Given the description of an element on the screen output the (x, y) to click on. 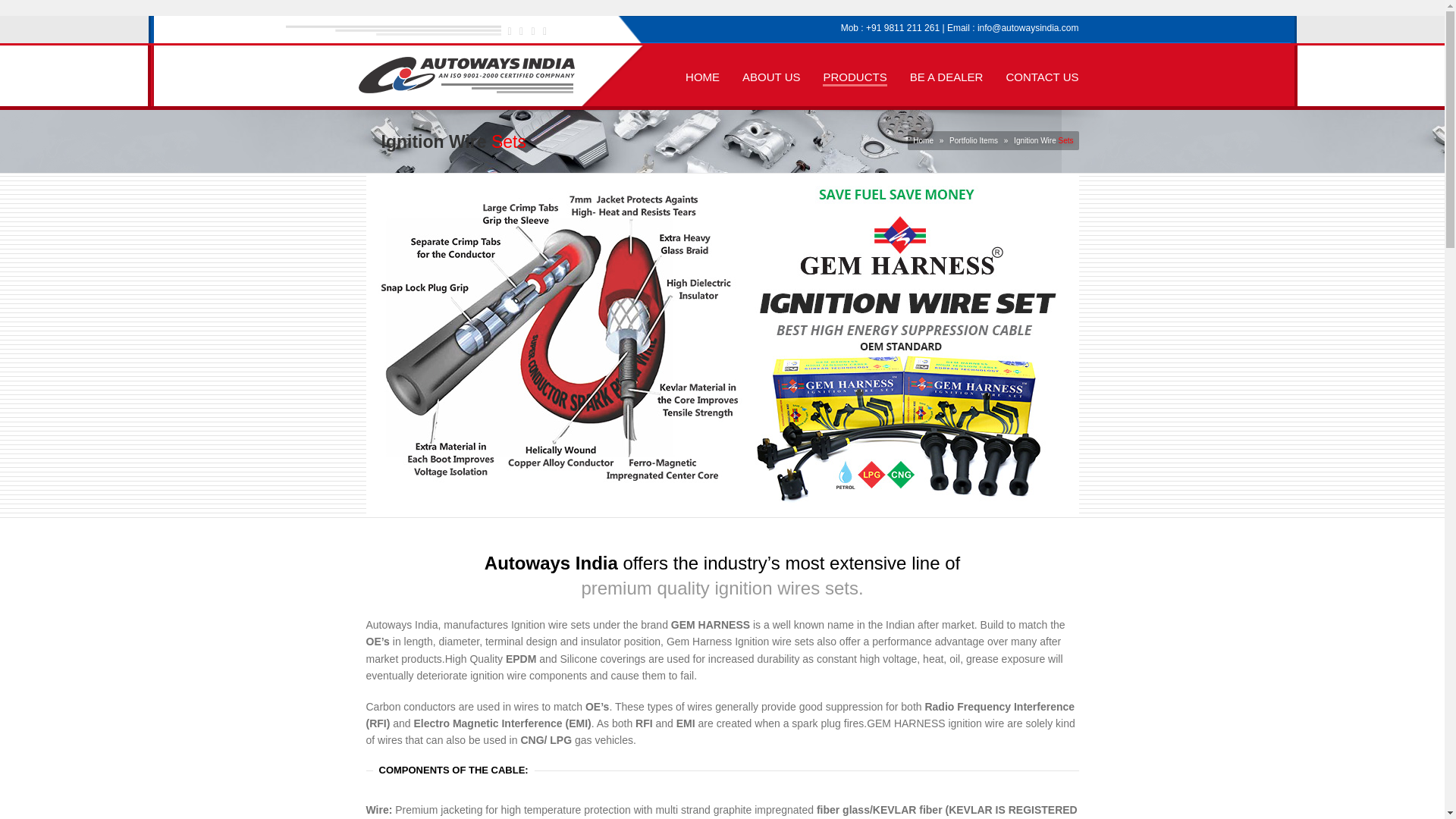
HOME (702, 73)
Portfolio Items (973, 140)
PRODUCTS (854, 74)
BE A DEALER (947, 73)
CONTACT US (1042, 73)
Portfolio Items (973, 140)
ABOUT US (770, 73)
Home (922, 140)
